Given the description of an element on the screen output the (x, y) to click on. 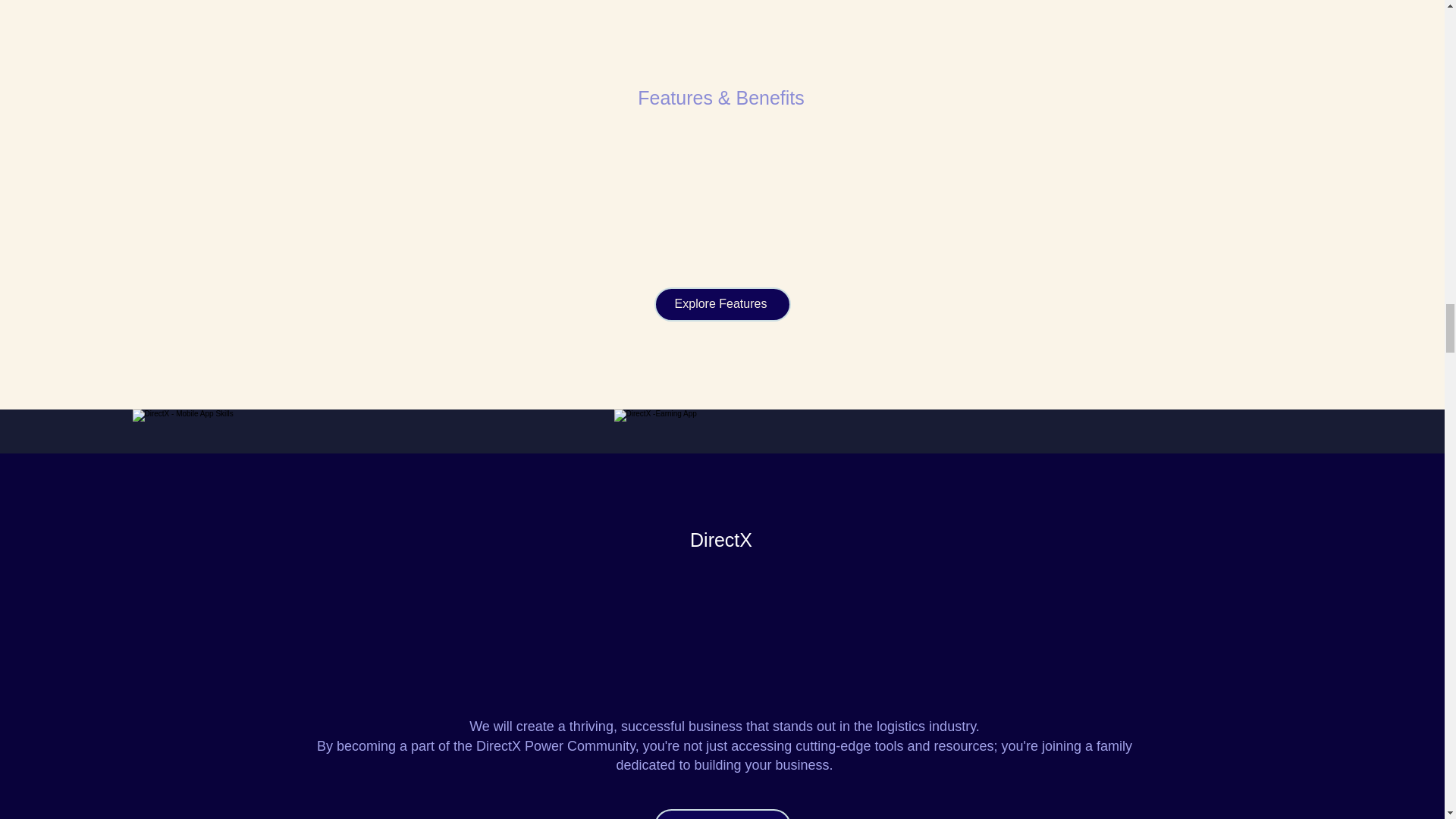
Learn More (721, 814)
